Given the description of an element on the screen output the (x, y) to click on. 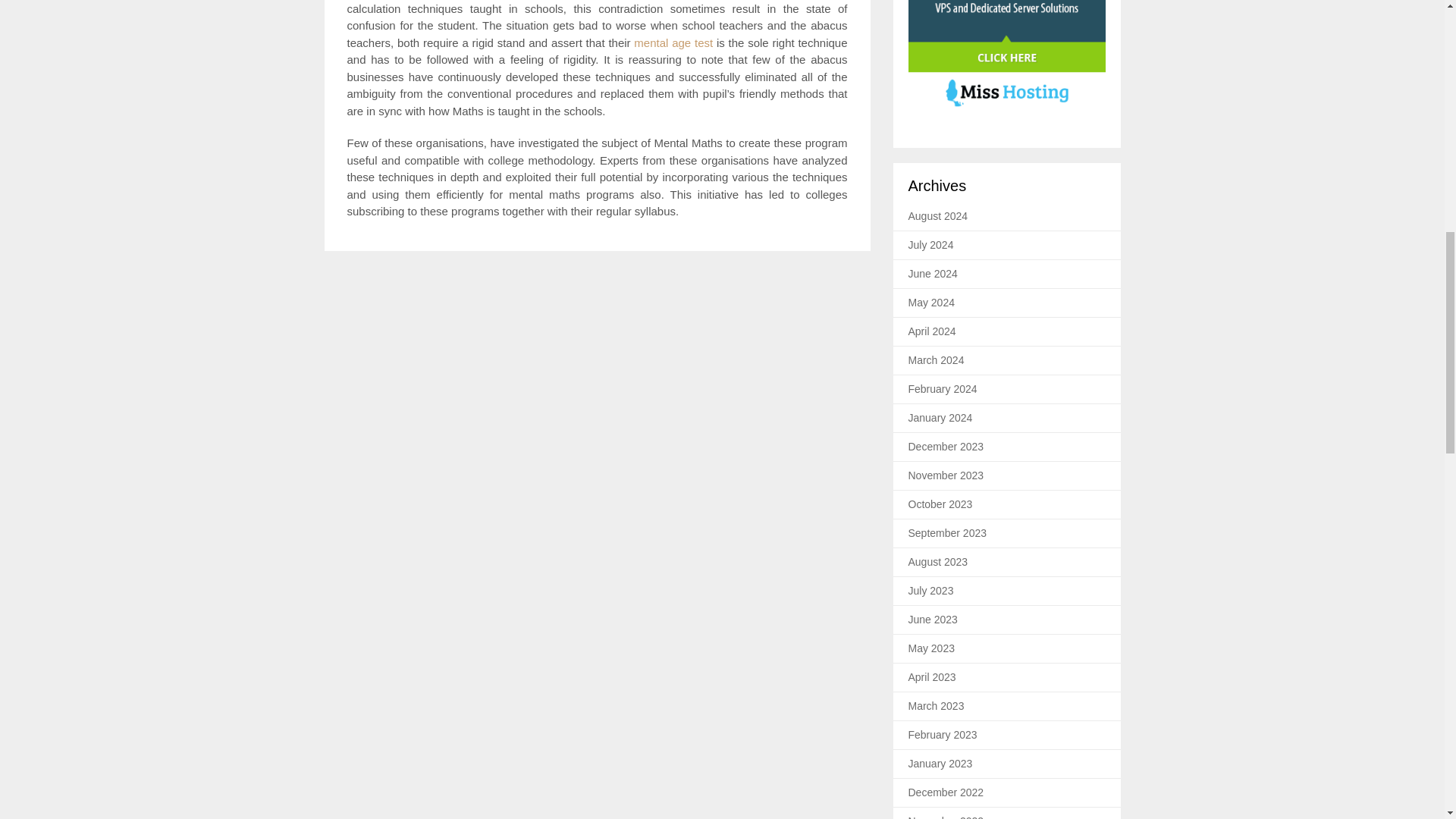
April 2024 (932, 331)
December 2023 (946, 446)
July 2024 (930, 244)
October 2023 (940, 503)
August 2023 (938, 562)
June 2024 (933, 273)
November 2022 (946, 816)
mental age test (673, 42)
November 2023 (946, 475)
April 2023 (932, 676)
